Given the description of an element on the screen output the (x, y) to click on. 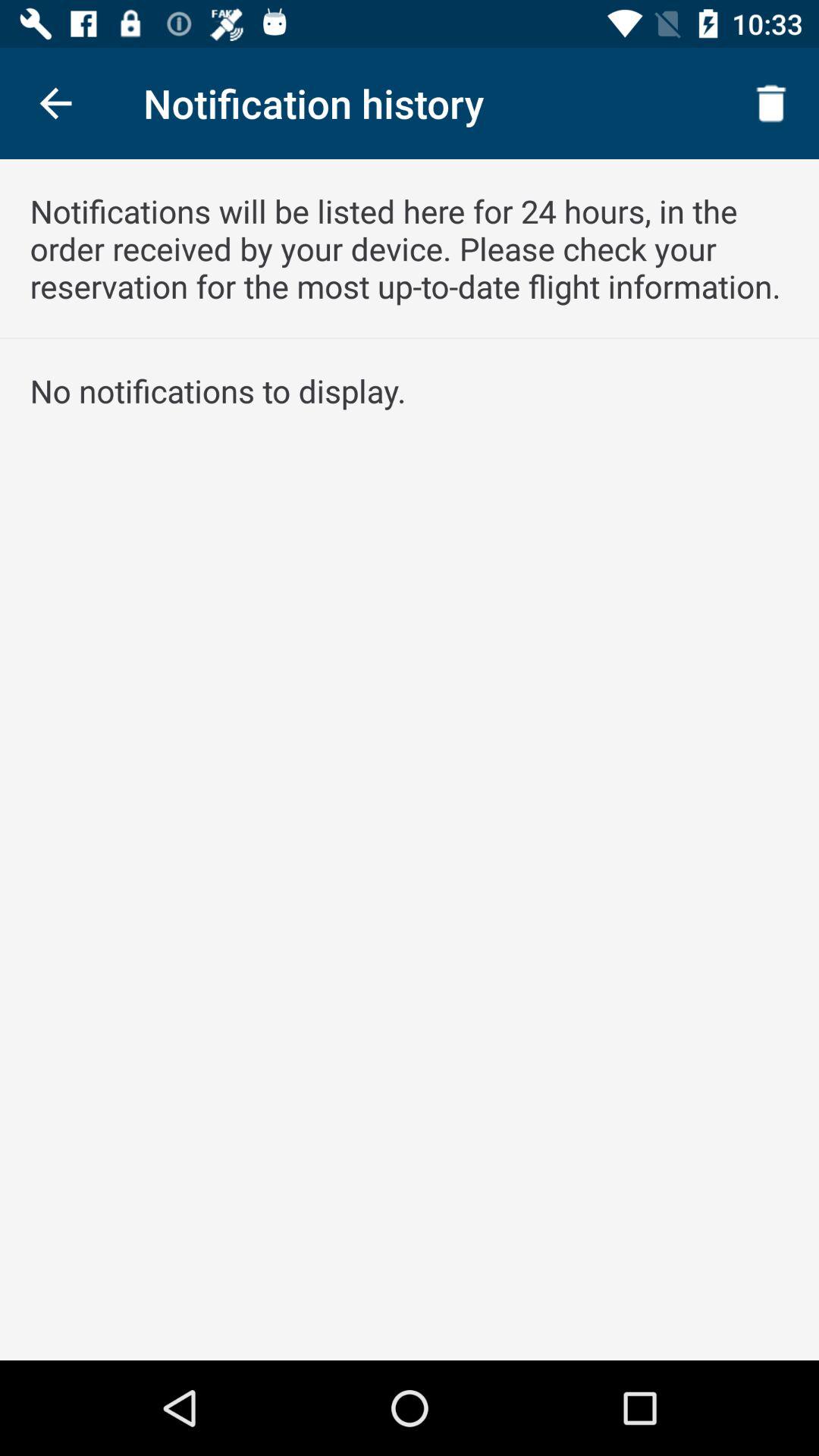
choose item above the notifications will be (771, 103)
